Given the description of an element on the screen output the (x, y) to click on. 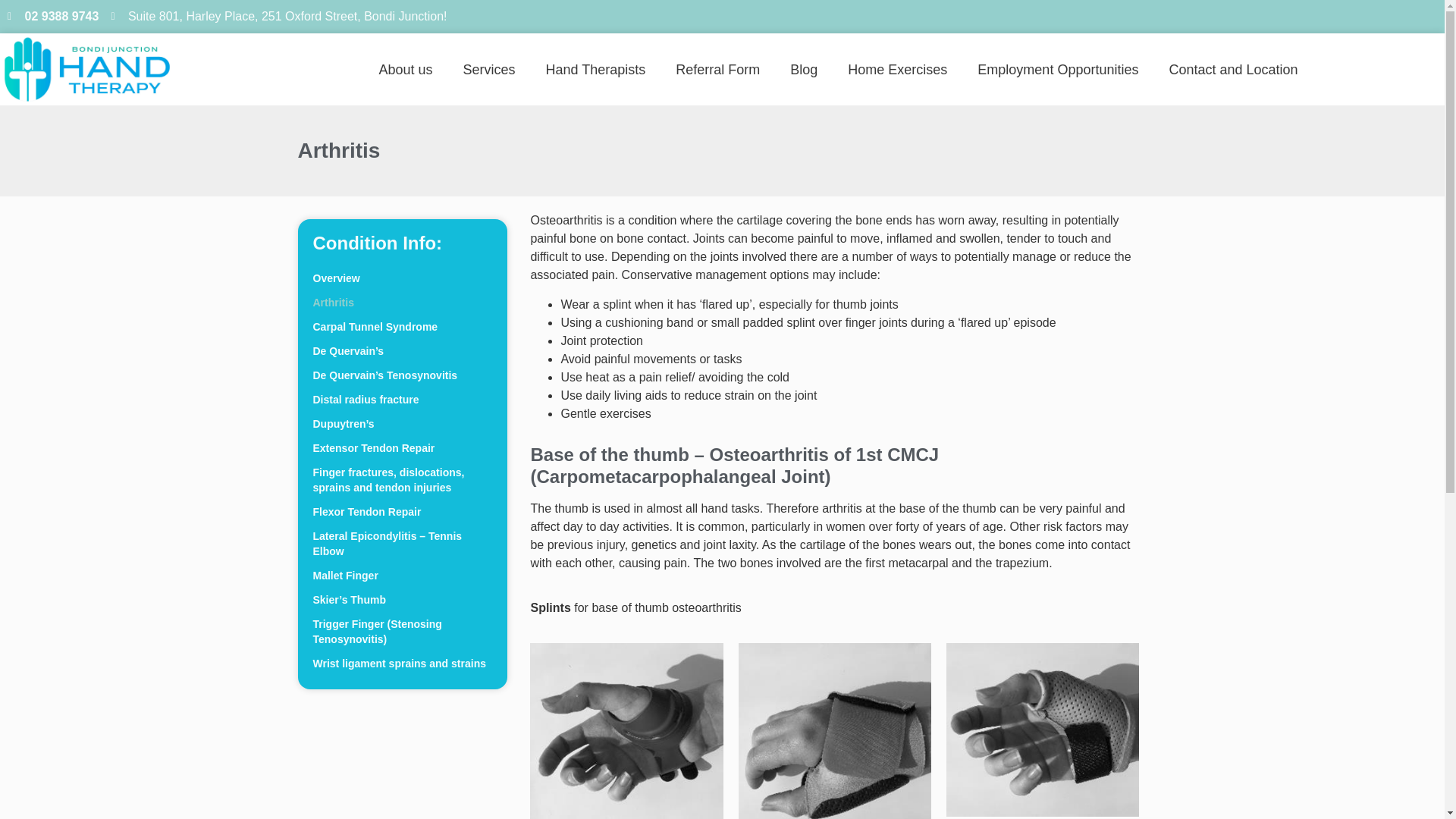
Flexor Tendon Repair (402, 511)
Referral Form (717, 69)
Blog (803, 69)
Wrist ligament sprains and strains (402, 663)
Distal radius fracture (402, 399)
Arthritis (402, 301)
About us (404, 69)
Home Exercises (897, 69)
Services (487, 69)
Finger fractures, dislocations, sprains and tendon injuries (402, 479)
Extensor Tendon Repair (402, 447)
Hand Therapists (596, 69)
Carpal Tunnel Syndrome (402, 326)
Employment Opportunities (1057, 69)
02 9388 9743 (53, 16)
